Given the description of an element on the screen output the (x, y) to click on. 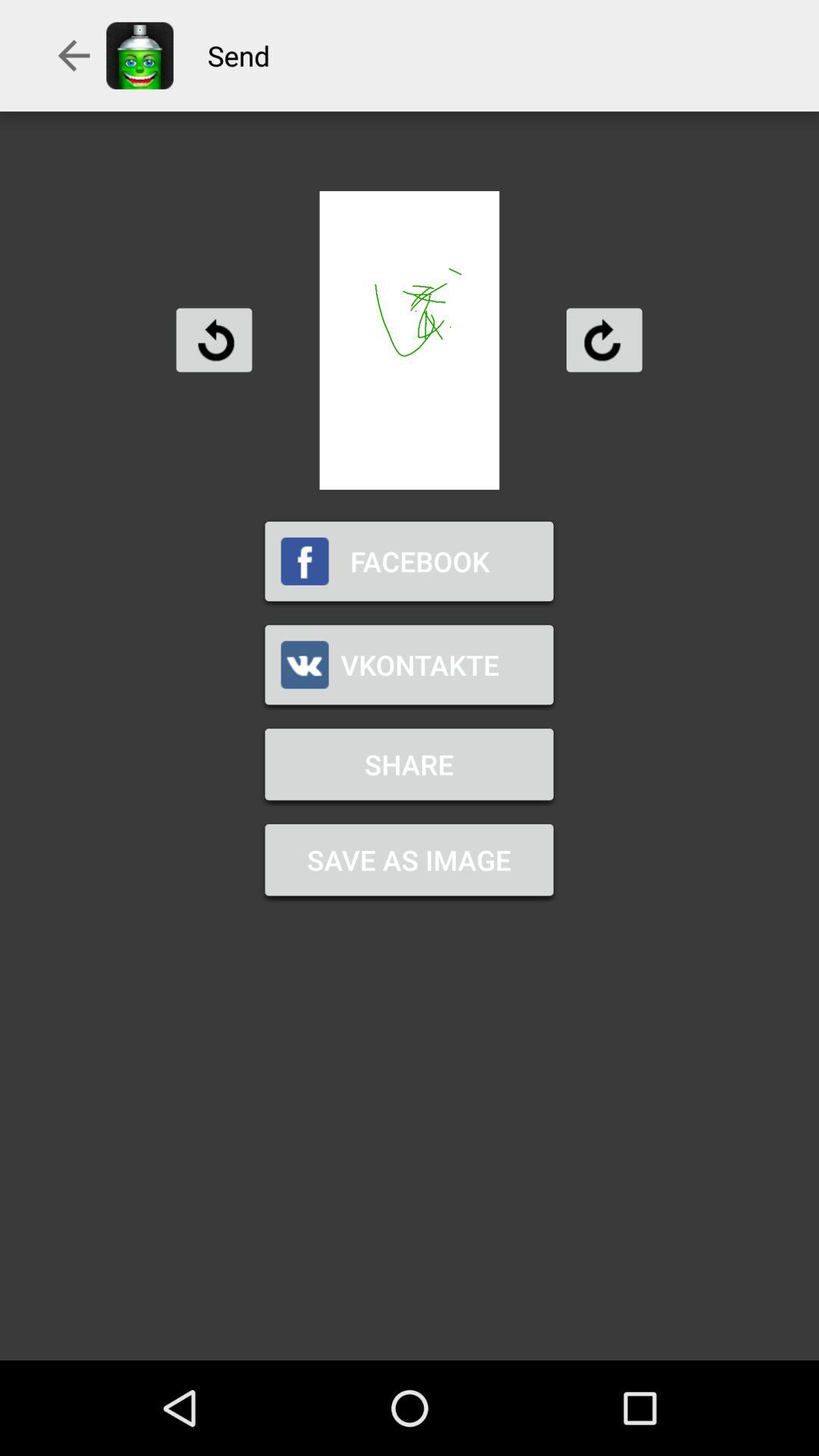
go back (213, 339)
